Given the description of an element on the screen output the (x, y) to click on. 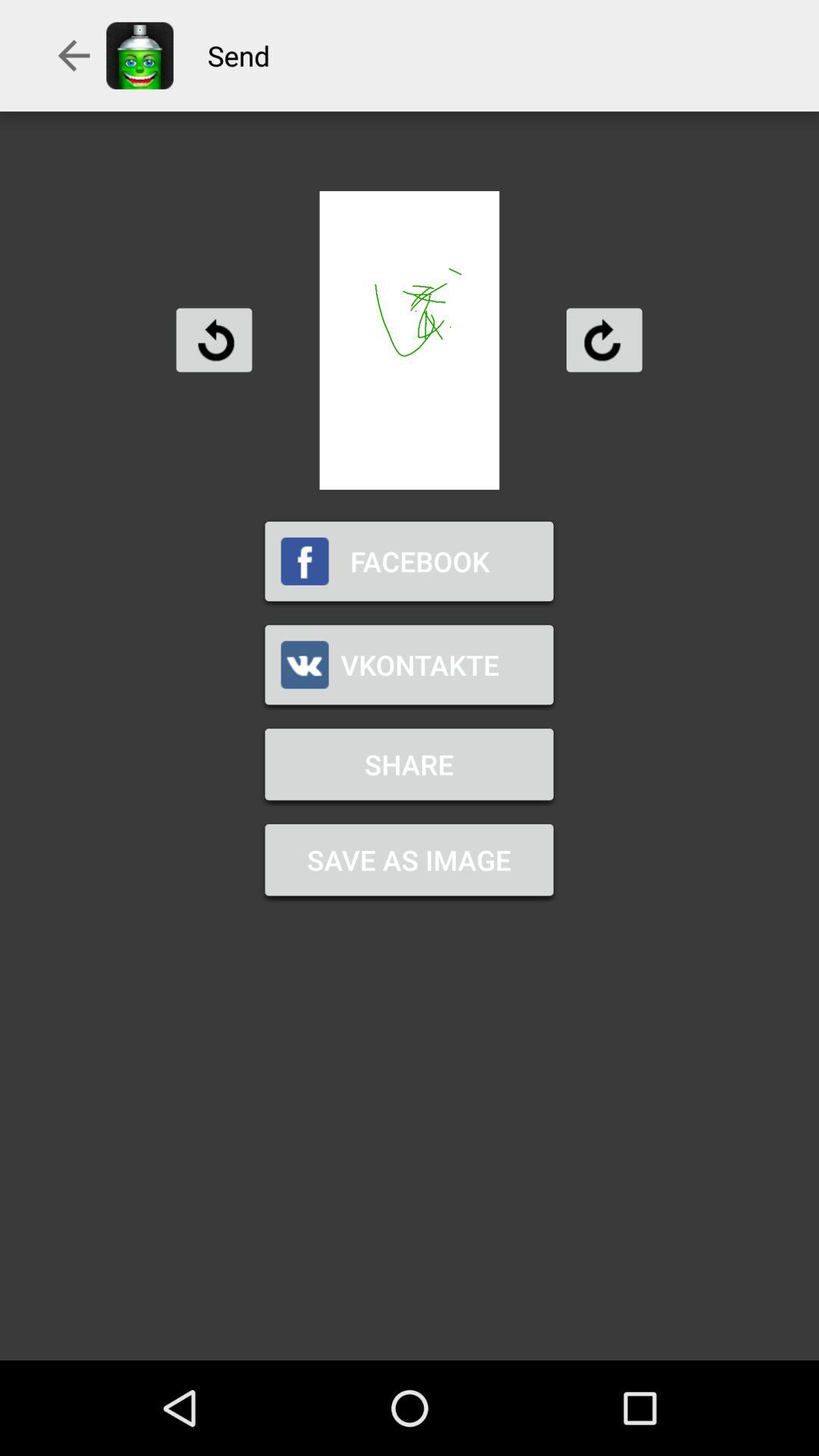
go back (213, 339)
